Given the description of an element on the screen output the (x, y) to click on. 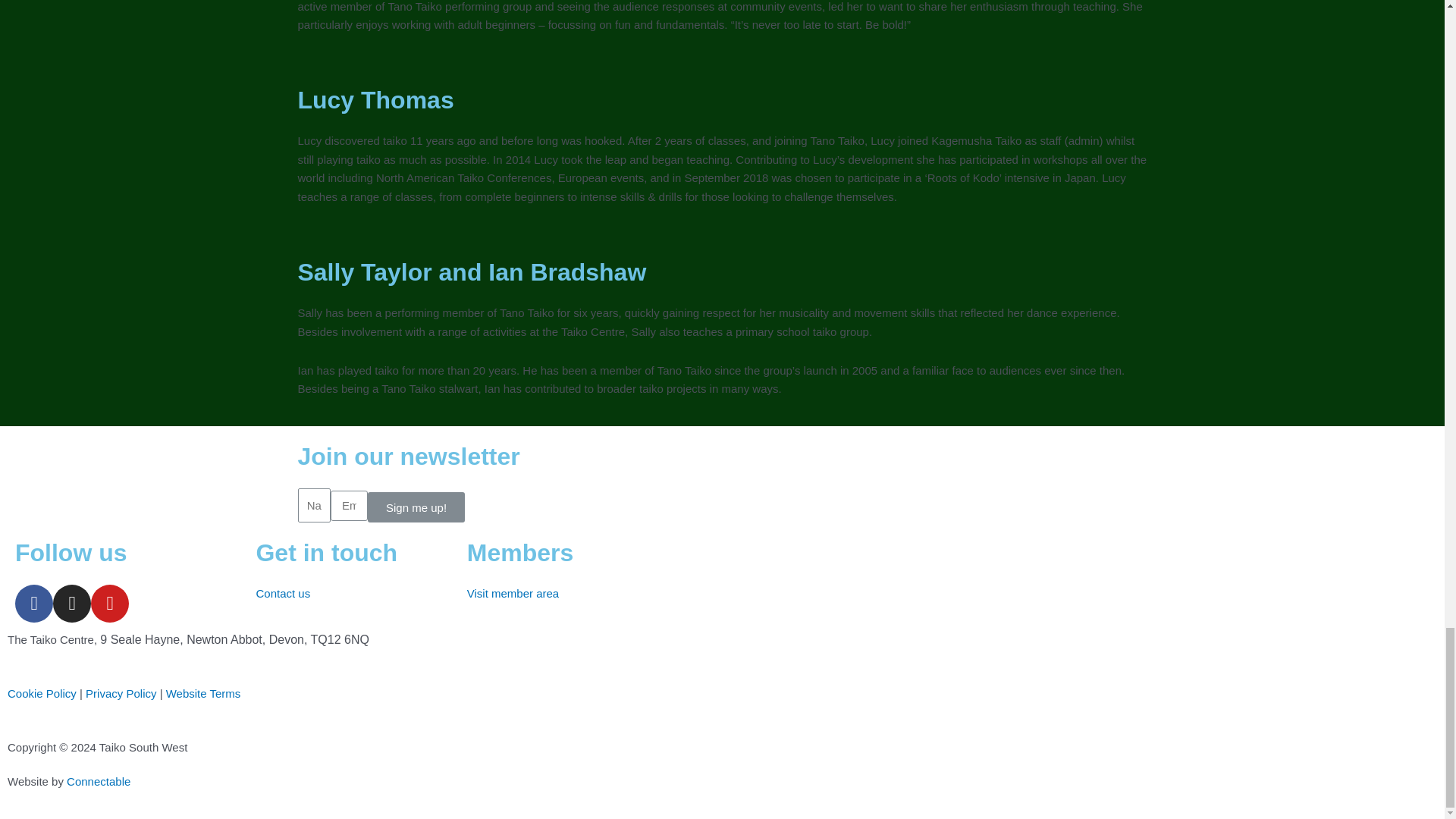
Contact us (283, 593)
Facebook (33, 603)
Sign me up! (416, 507)
Instagram (71, 603)
Youtube (109, 603)
